Given the description of an element on the screen output the (x, y) to click on. 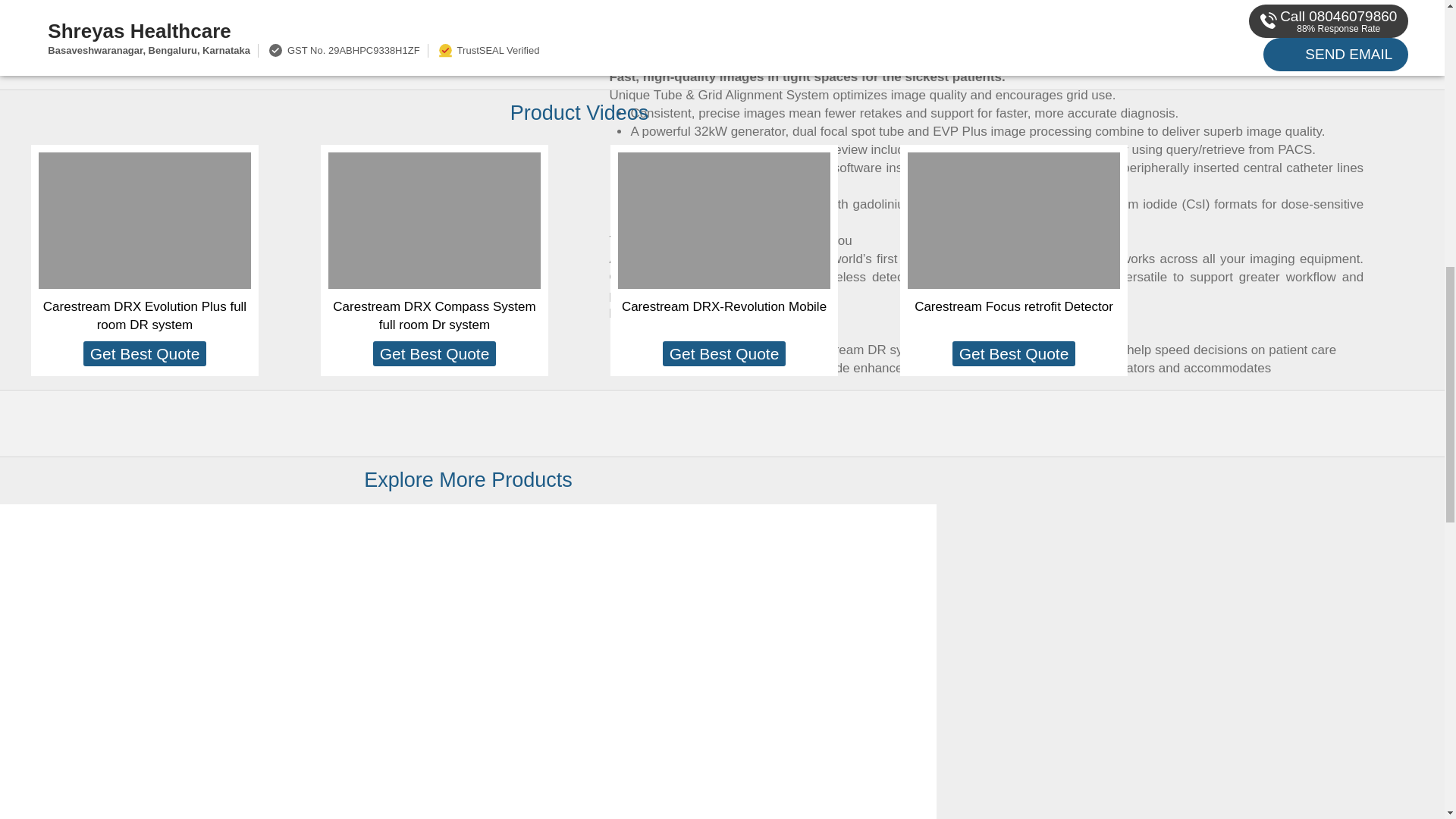
Carestream DRX Compass System full room Dr system (434, 315)
Carestream DRX Evolution Plus full room DR system (144, 315)
Carestream Focus retrofit Detector (1013, 306)
Carestream DRX-Revolution Mobile (724, 306)
